Given the description of an element on the screen output the (x, y) to click on. 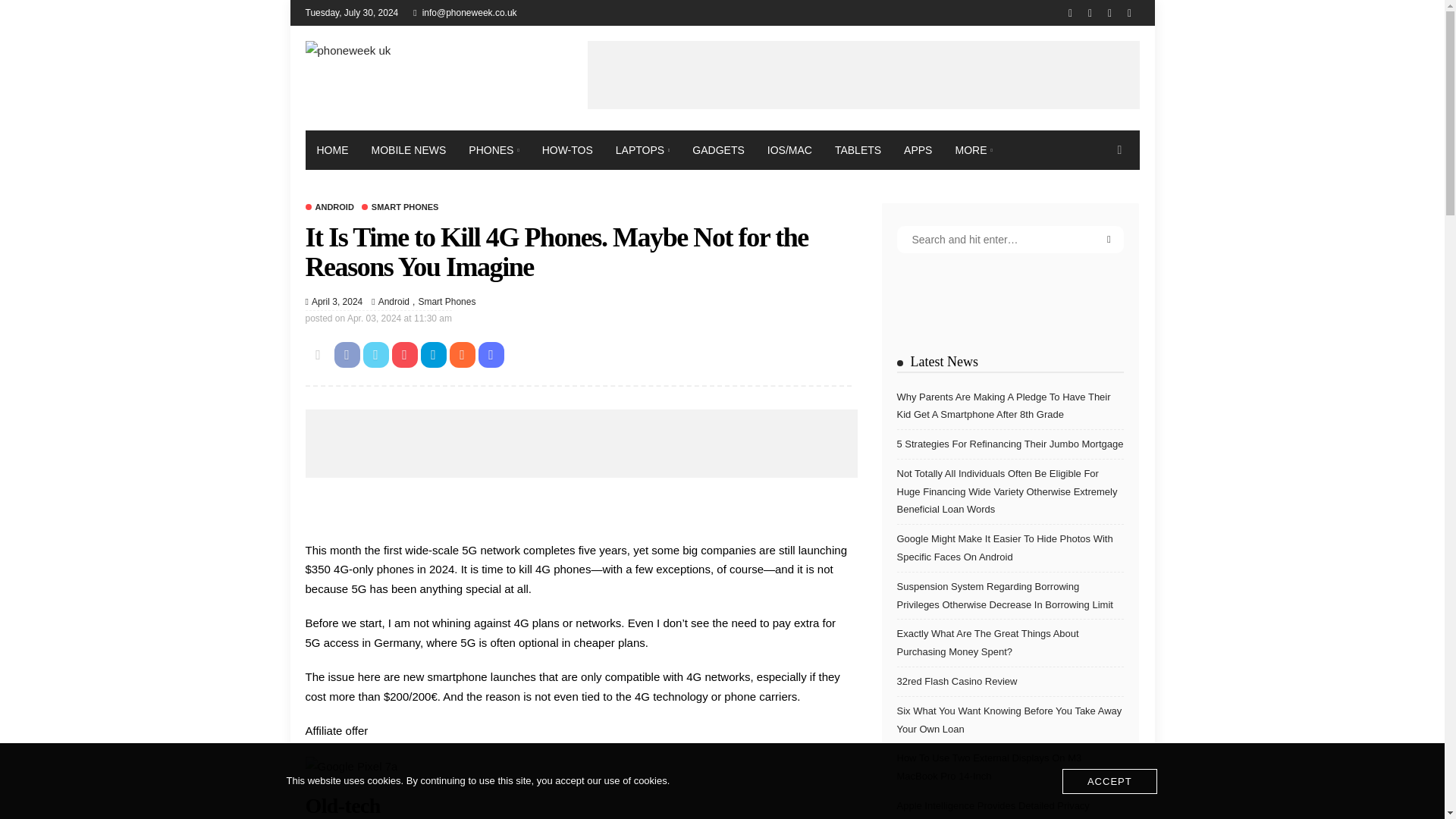
MORE (973, 149)
TABLETS (858, 149)
Smart Phones (442, 301)
search (1118, 149)
HOW-TOS (567, 149)
Android (328, 207)
SMART PHONES (400, 207)
Android (393, 301)
PHONES (493, 149)
ANDROID (328, 207)
Smart Phones (442, 301)
Smart Phones (400, 207)
Android (393, 301)
HOME (331, 149)
GADGETS (718, 149)
